Given the description of an element on the screen output the (x, y) to click on. 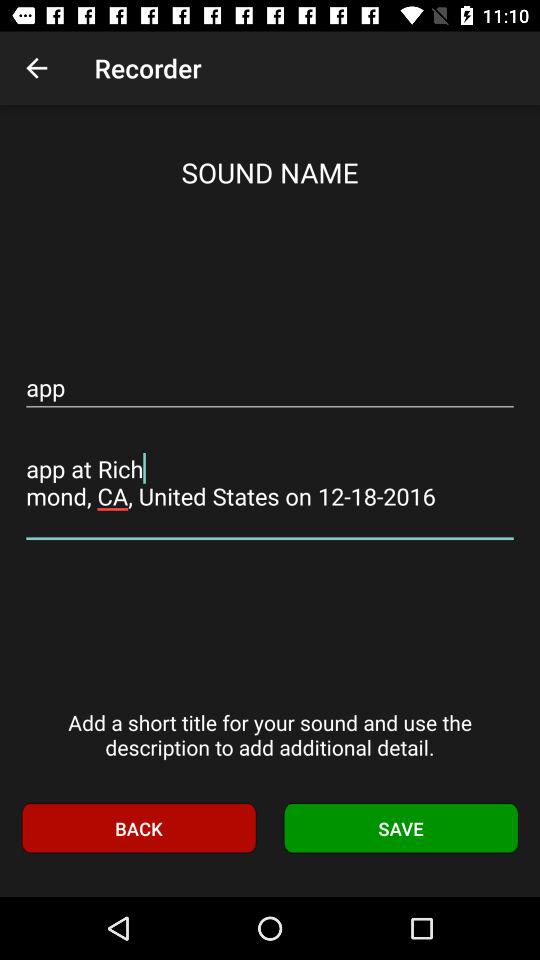
choose the item above add a short item (270, 482)
